Given the description of an element on the screen output the (x, y) to click on. 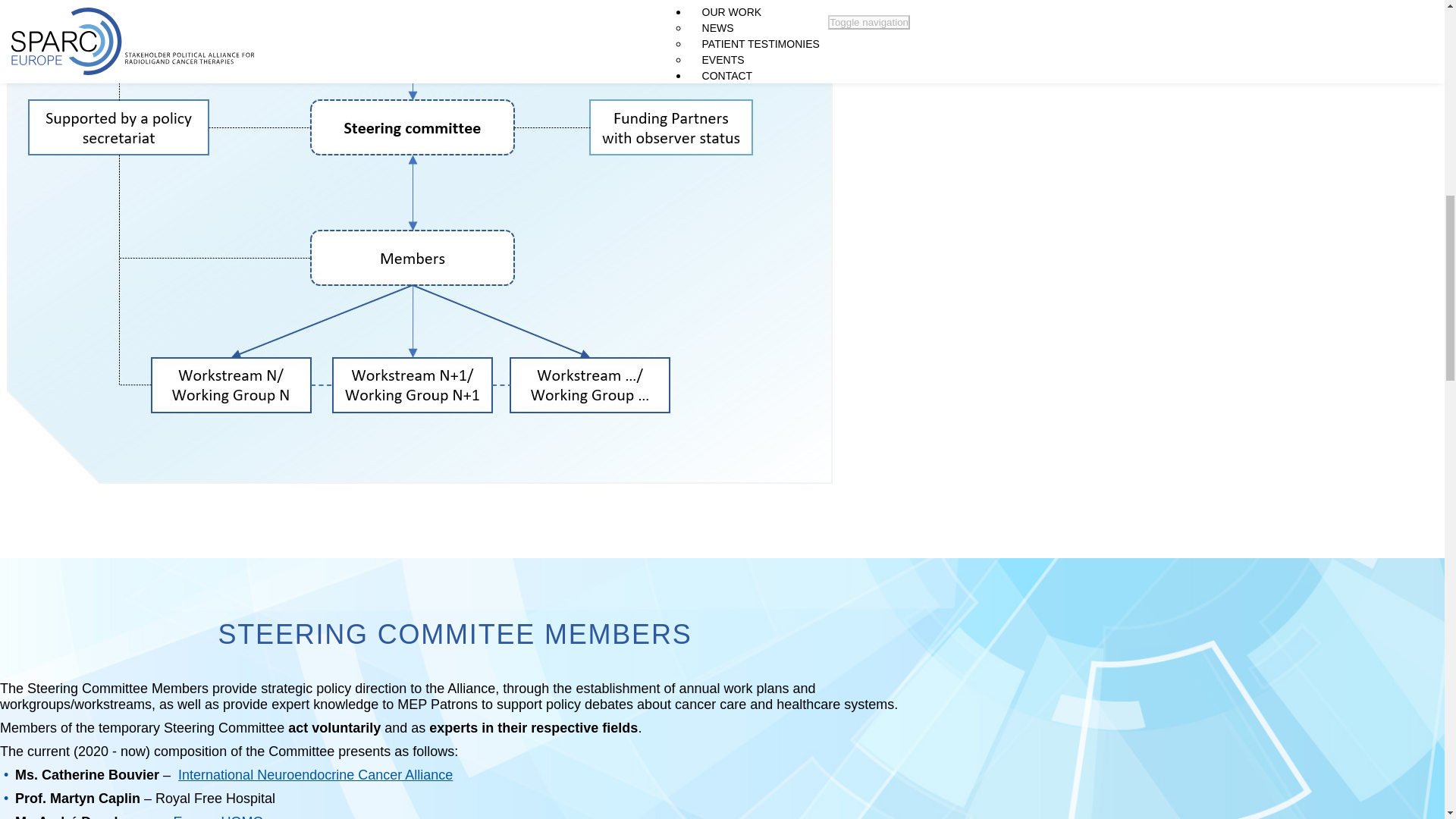
Europa UOMO (218, 816)
International Neuroendocrine Cancer Alliance (314, 774)
